Given the description of an element on the screen output the (x, y) to click on. 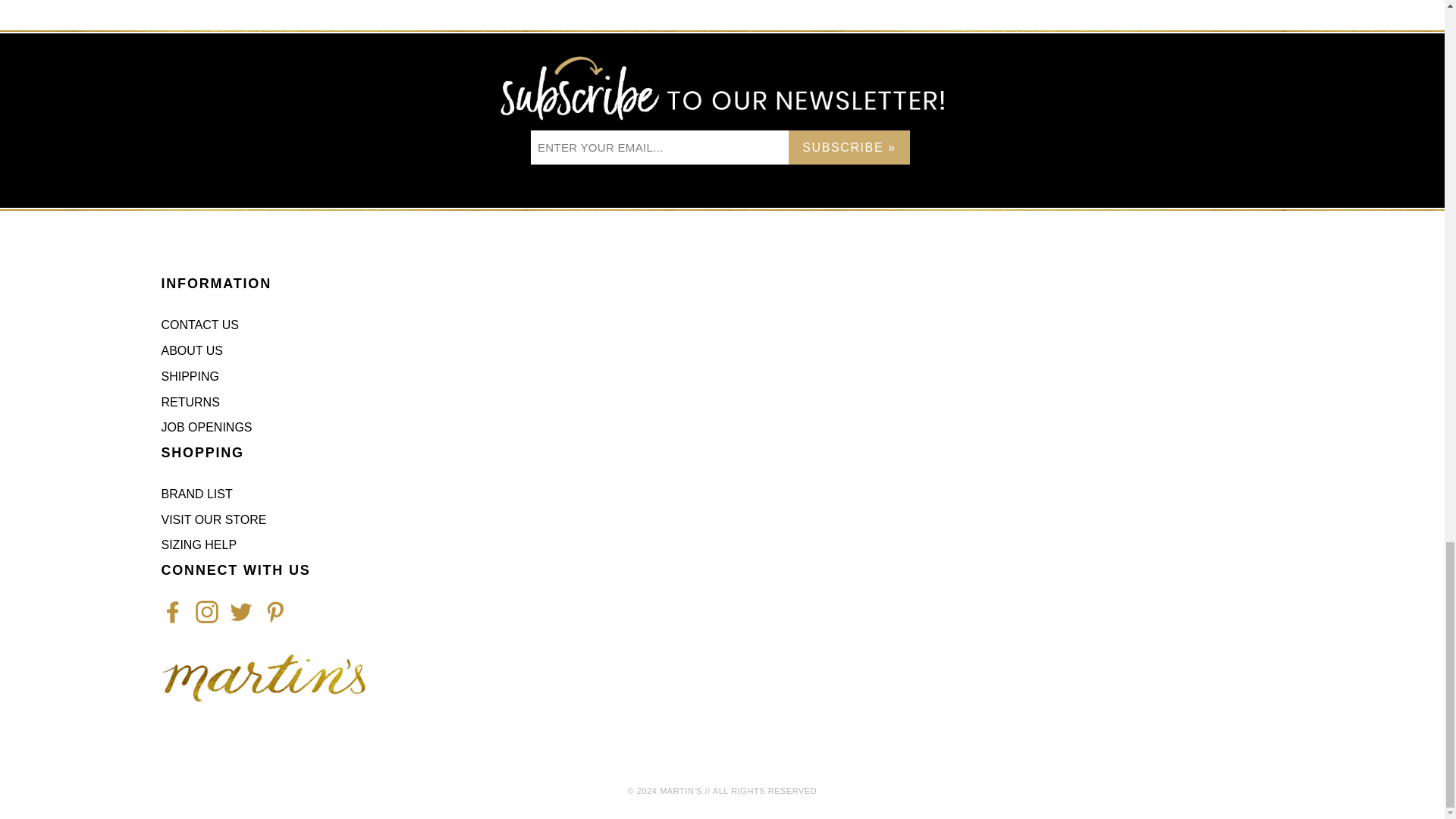
Martin's on Facebook (171, 611)
Martin's on Twitter (239, 611)
Martin's on Instagram (206, 611)
